Given the description of an element on the screen output the (x, y) to click on. 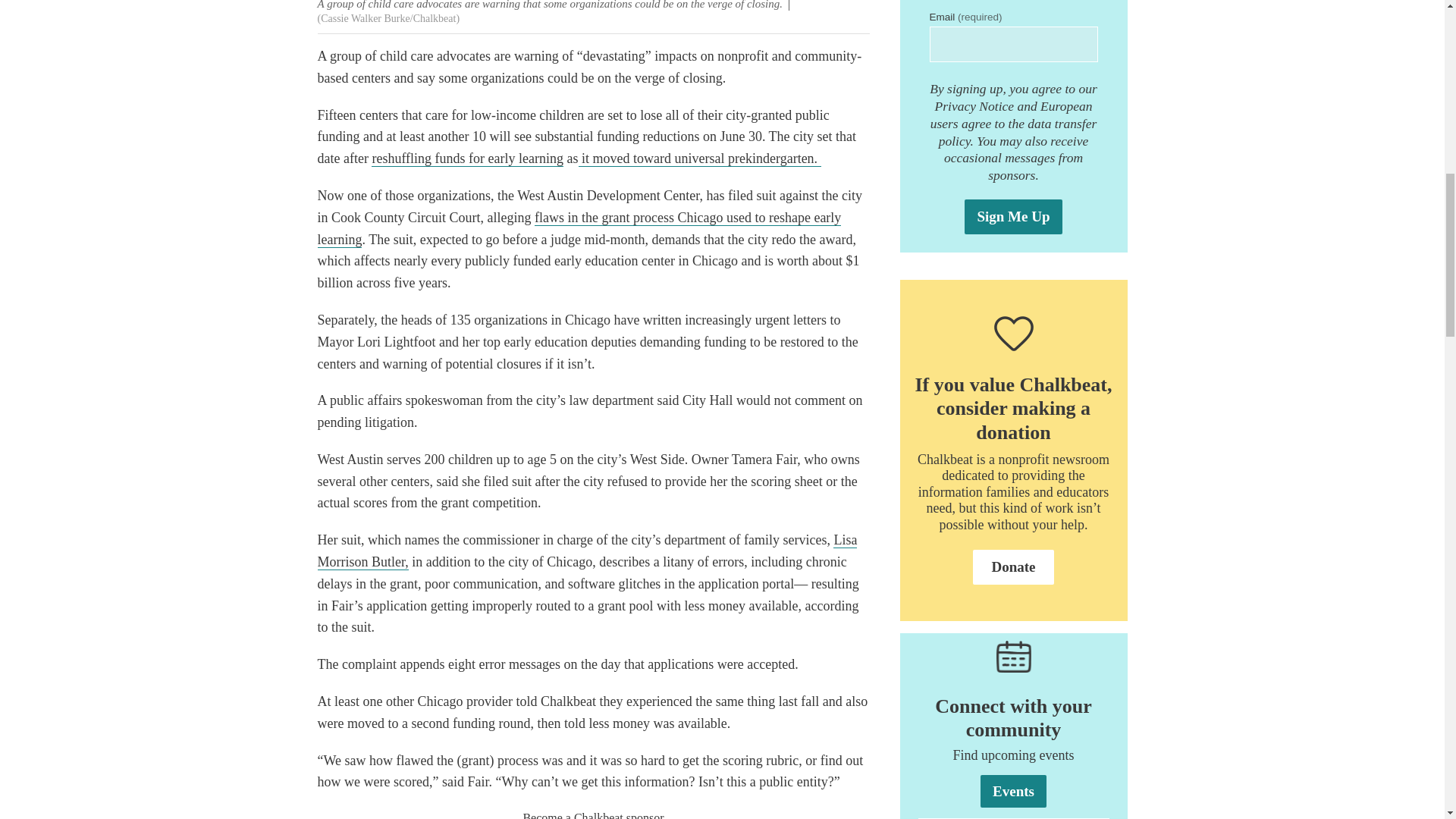
Lisa Morrison Butler, (587, 551)
reshuffling funds for early learning (467, 158)
it moved toward universal prekindergarten.  (699, 158)
Become a Chalkbeat sponsor (592, 815)
